Given the description of an element on the screen output the (x, y) to click on. 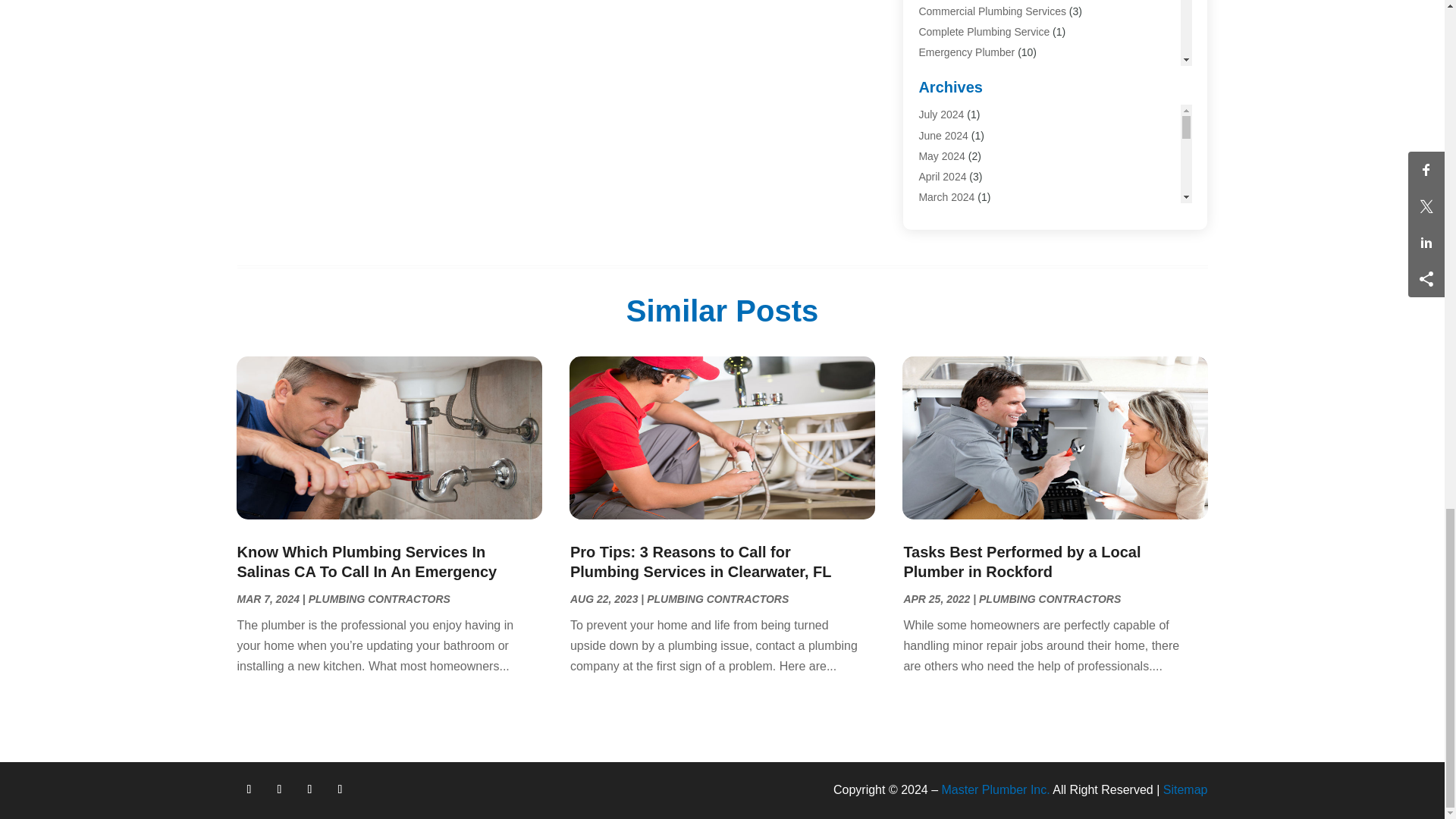
Emergency Plumber (966, 51)
Plumbing Contractors (969, 175)
Follow on Instagram (309, 789)
Plumbing Service (959, 237)
Plumbing Repairs (960, 217)
Commercial Plumbing Services (991, 10)
Follow on Youtube (339, 789)
Heating And Air Conditioning (985, 114)
Garbage Disposal Service (980, 72)
Complete Plumbing Service (983, 31)
